Given the description of an element on the screen output the (x, y) to click on. 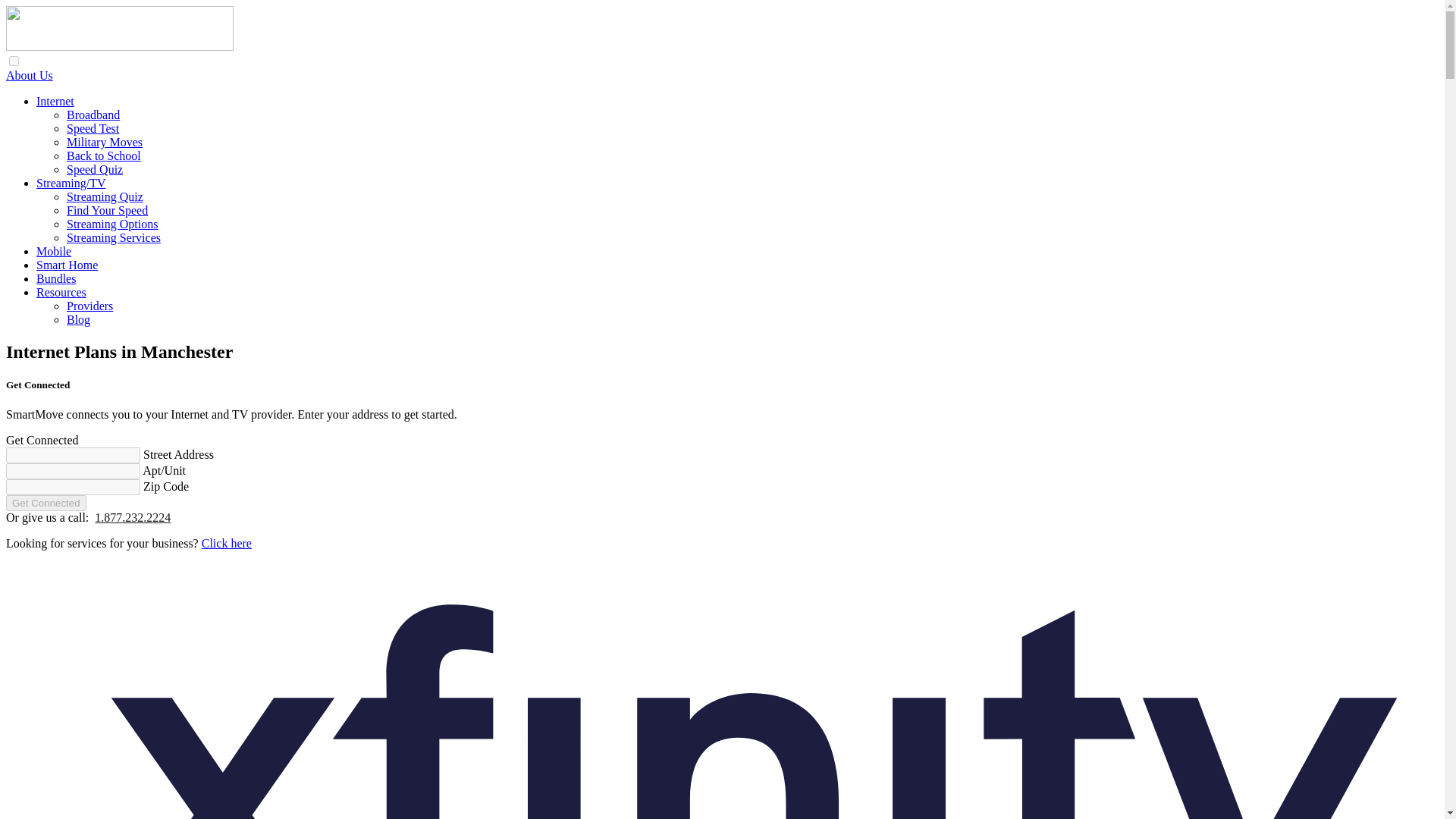
About Us (28, 74)
Get Connected (45, 503)
1.877.232.2224 (132, 517)
on (13, 61)
Streaming Services (113, 237)
Blog (78, 318)
Click here (226, 543)
Find Your Speed (107, 210)
Bundles (55, 278)
Back to School (103, 155)
